Given the description of an element on the screen output the (x, y) to click on. 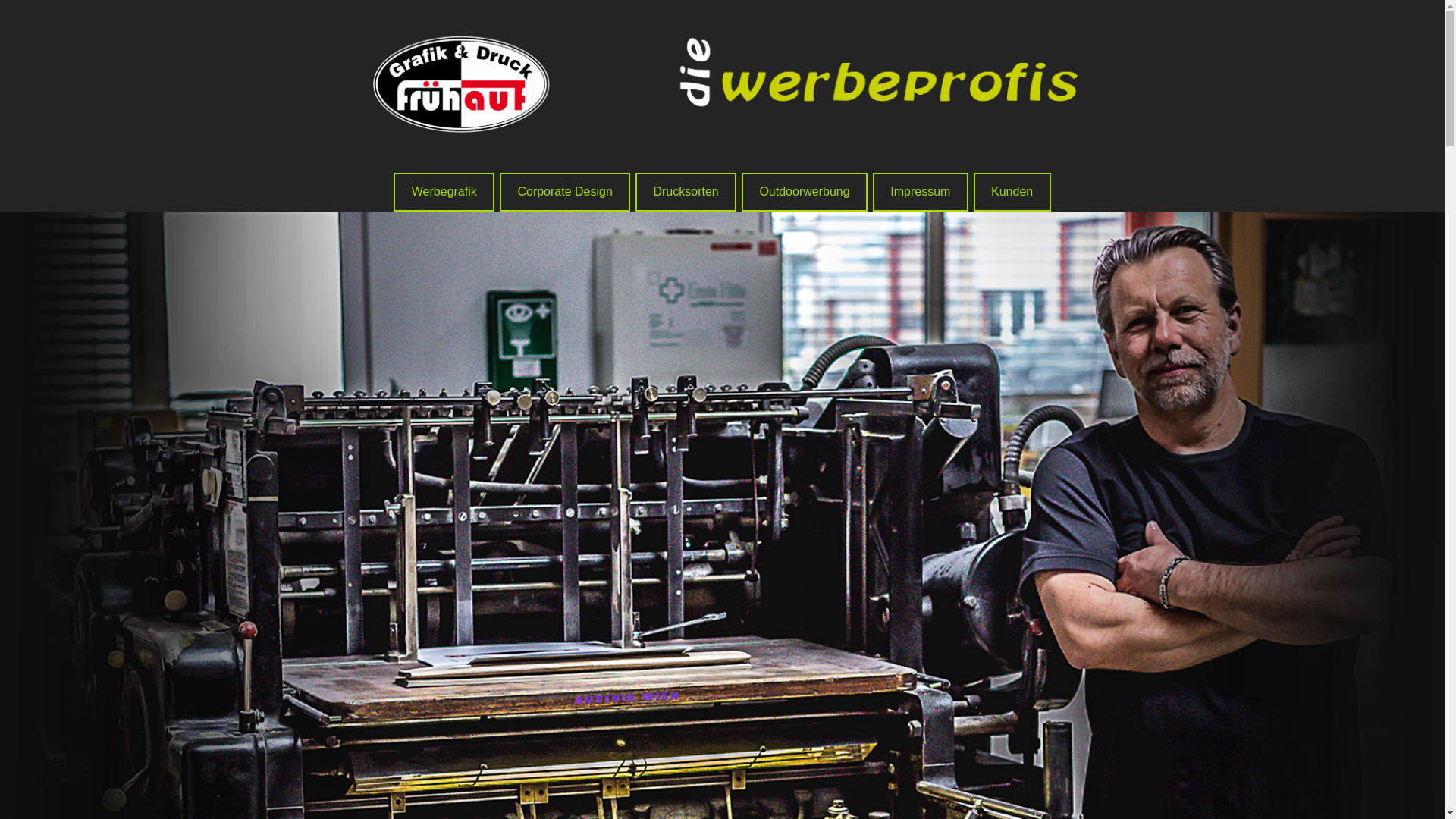
Drucksorten Element type: text (685, 191)
Outdoorwerbung Element type: text (804, 191)
Kunden Element type: text (1012, 191)
Werbegrafik Element type: text (443, 191)
Impressum Element type: text (920, 191)
Corporate Design Element type: text (564, 191)
